Given the description of an element on the screen output the (x, y) to click on. 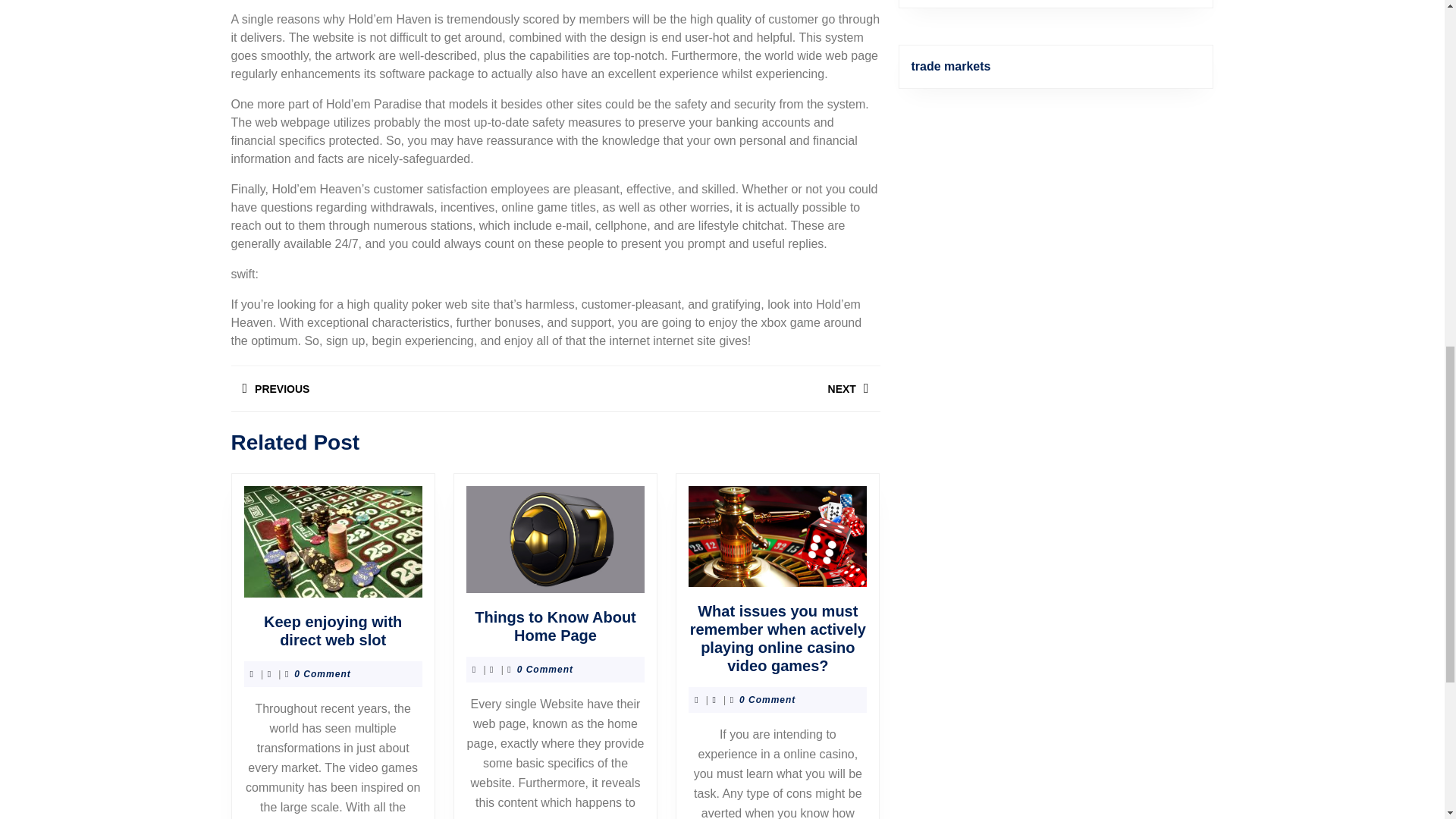
trade markets (392, 388)
